Given the description of an element on the screen output the (x, y) to click on. 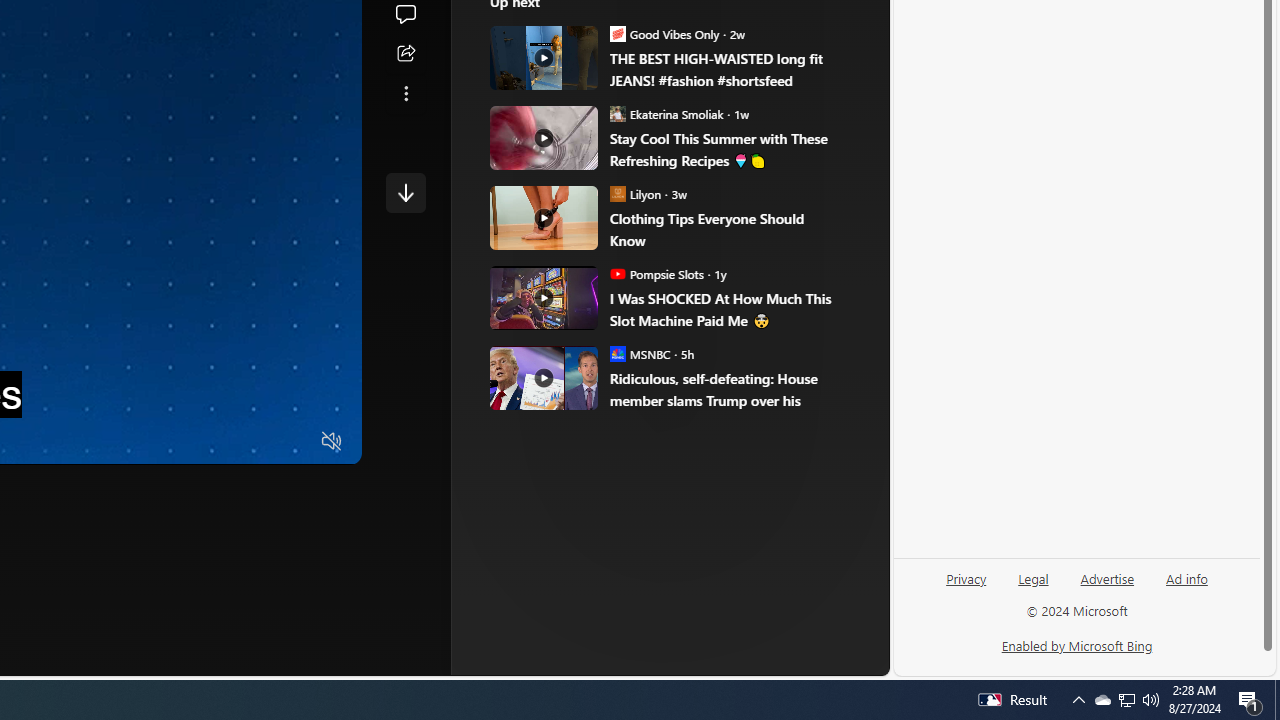
Class: control (406, 192)
AutomationID: e5rZOEMGacU1 (406, 192)
Good Vibes Only (617, 33)
Ad Choice (822, 336)
Good Vibes Only Good Vibes Only (664, 33)
Captions (253, 442)
Ad info (1187, 577)
Lilyon Lilyon (635, 193)
Share this story (406, 53)
Pompsie Slots Pompsie Slots (657, 273)
Fullscreen (293, 442)
